Given the description of an element on the screen output the (x, y) to click on. 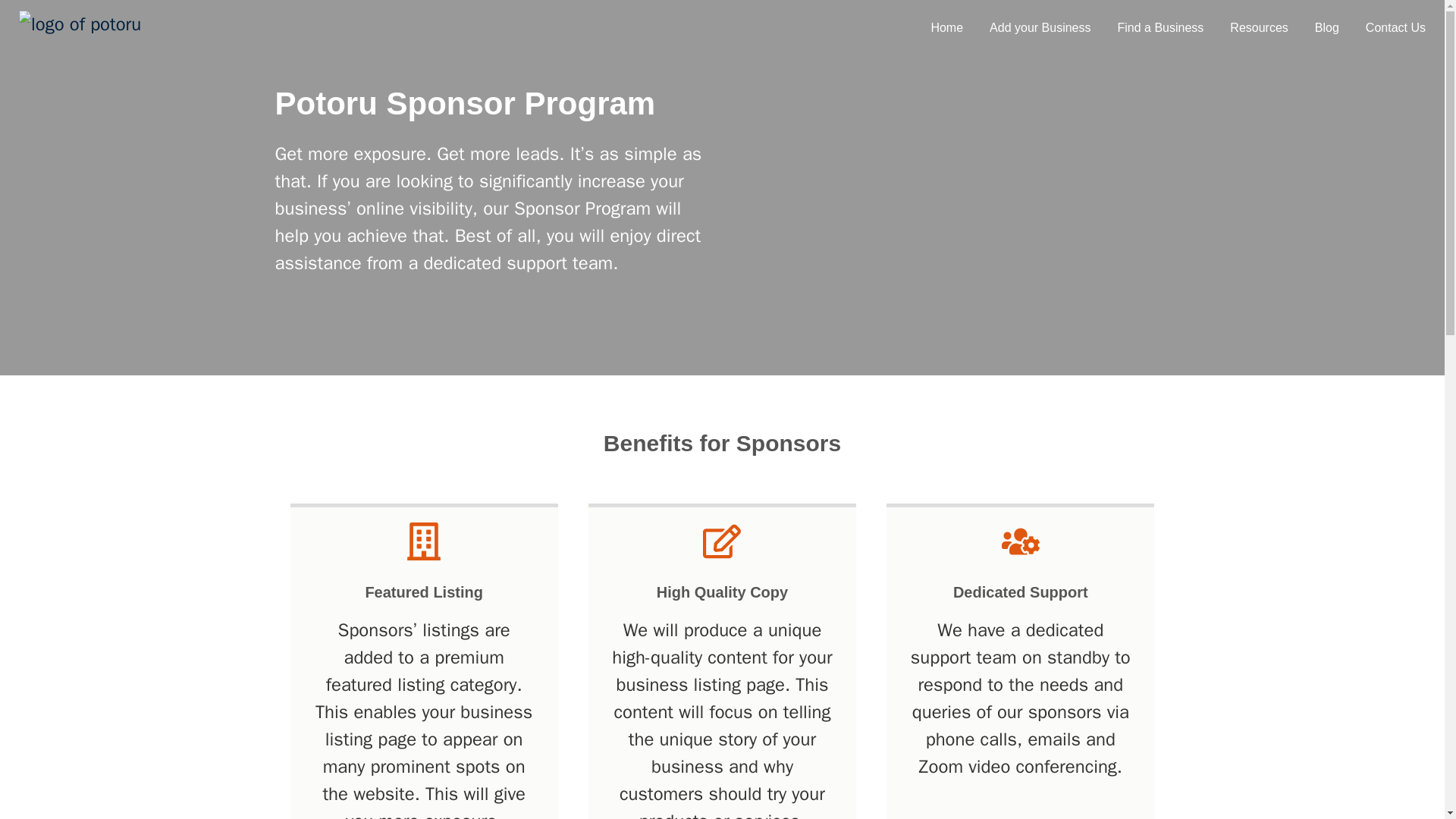
Home (946, 27)
Resources (1258, 27)
Find a Business (1161, 27)
Add your Business (1040, 27)
Contact Us (1395, 27)
